Given the description of an element on the screen output the (x, y) to click on. 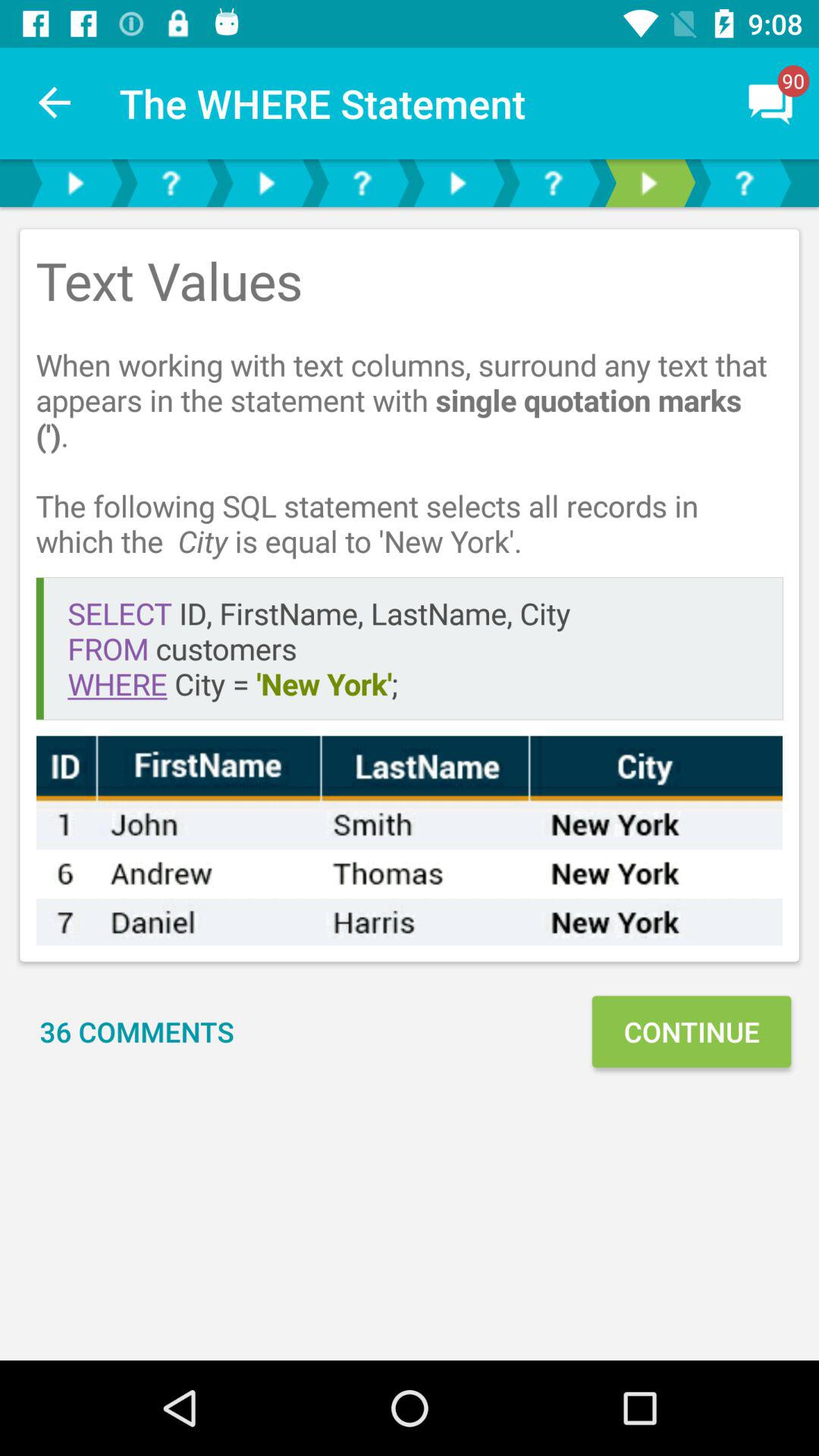
select all data (409, 840)
